Given the description of an element on the screen output the (x, y) to click on. 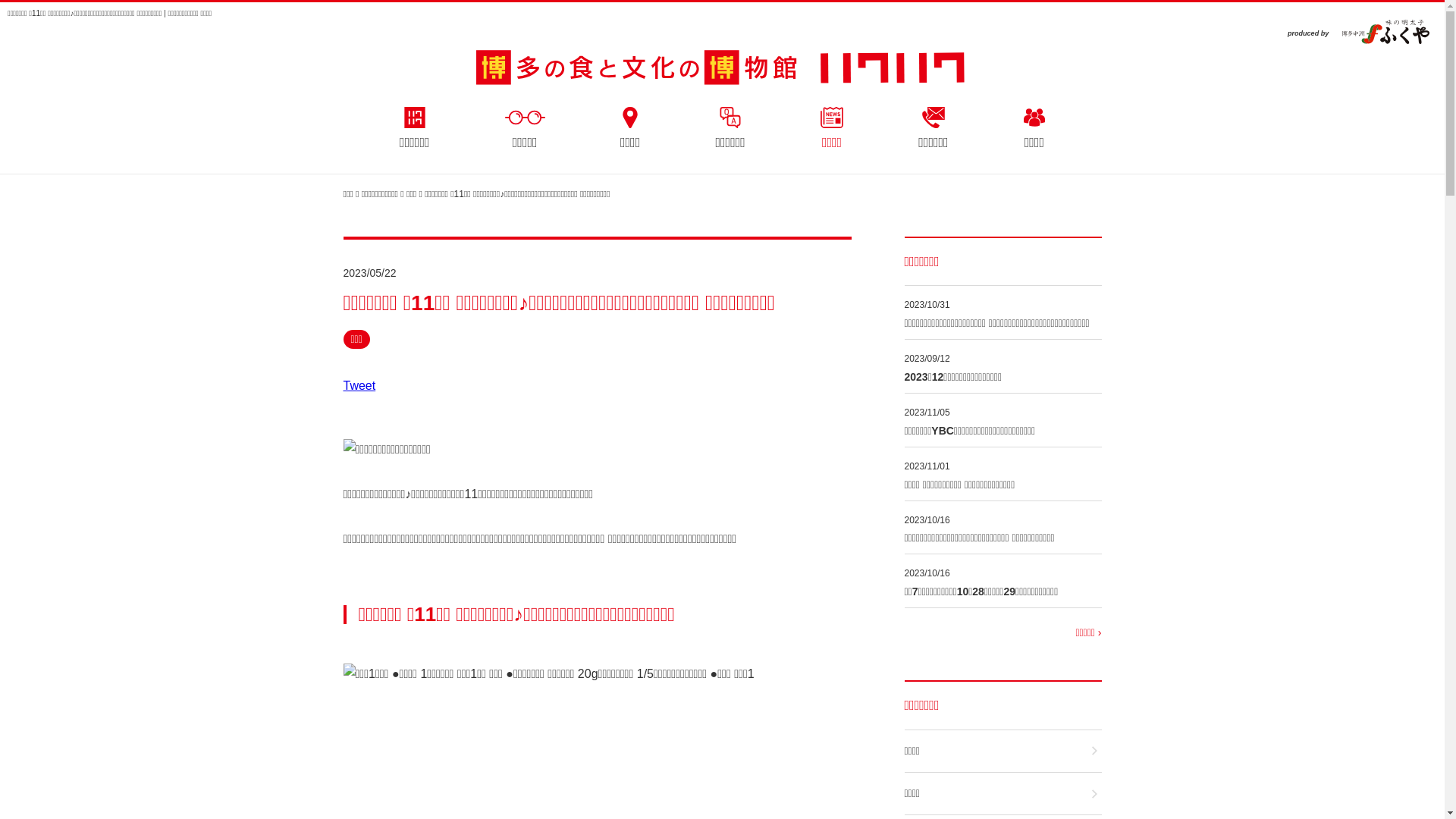
Tweet Element type: text (358, 385)
